Given the description of an element on the screen output the (x, y) to click on. 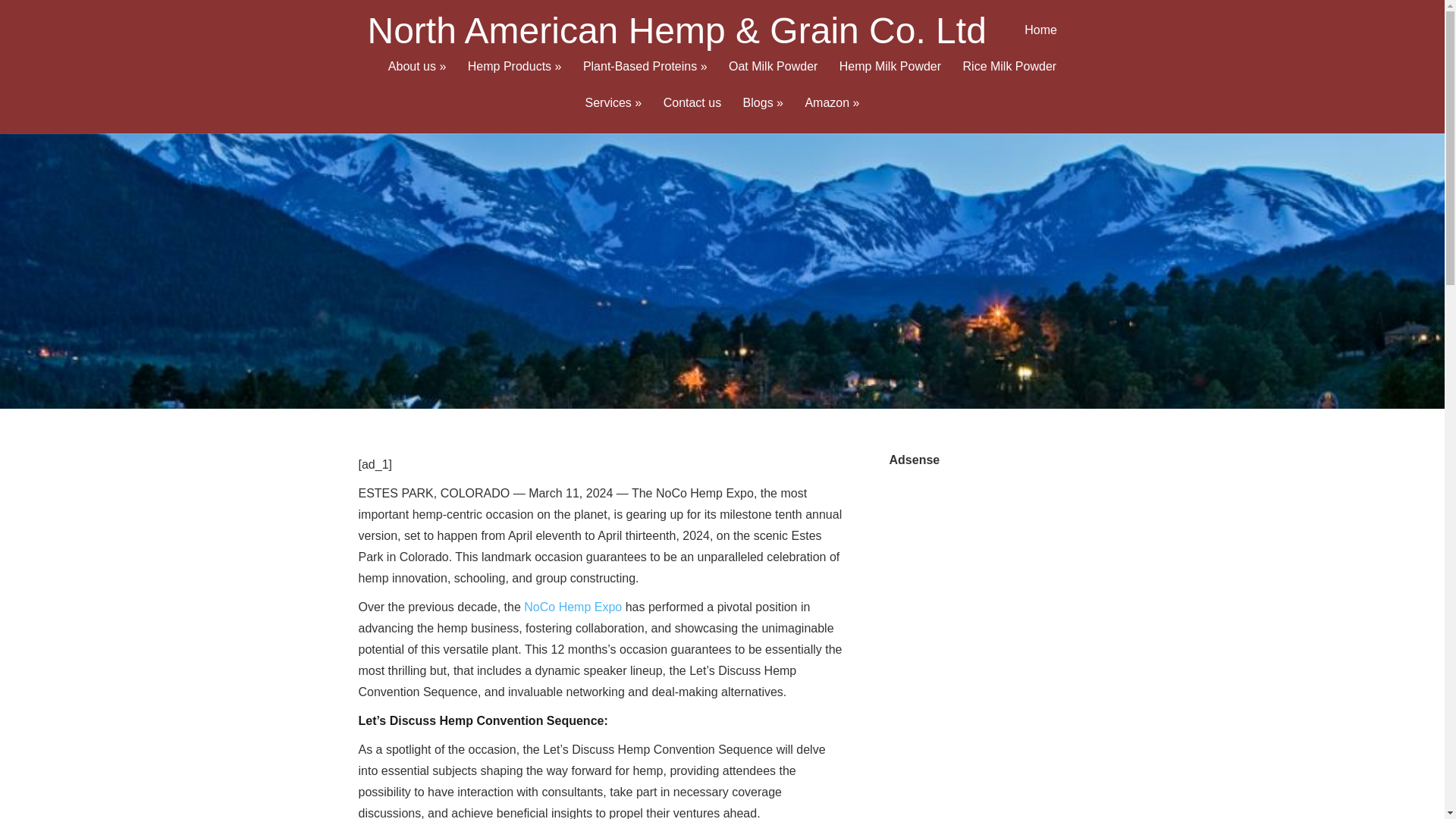
Rice Milk Powder (1009, 78)
Oat Milk Powder (773, 78)
Hemp Products (514, 78)
Amazon (830, 115)
Contact us (691, 115)
About us (416, 78)
Blogs (762, 115)
Services (613, 115)
Home (1039, 42)
Plant-Based Proteins (644, 78)
Hemp Milk Powder (889, 78)
